Given the description of an element on the screen output the (x, y) to click on. 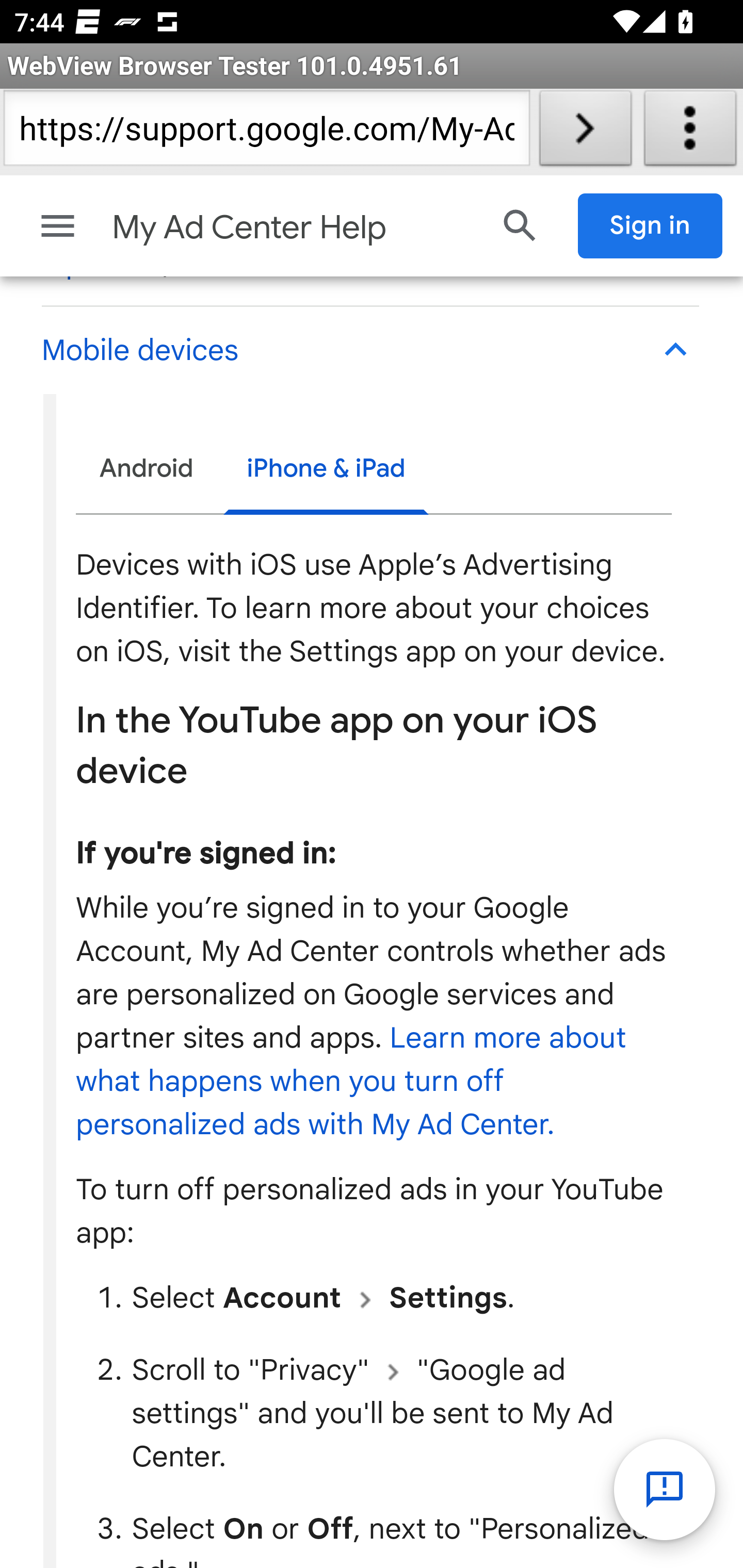
Load URL (585, 132)
About WebView (690, 132)
Main menu (58, 225)
My Ad Center Help (292, 226)
Search Help Center (519, 225)
Sign in (650, 225)
Mobile devices (369, 350)
Android (146, 468)
iPhone & iPad (325, 469)
